Given the description of an element on the screen output the (x, y) to click on. 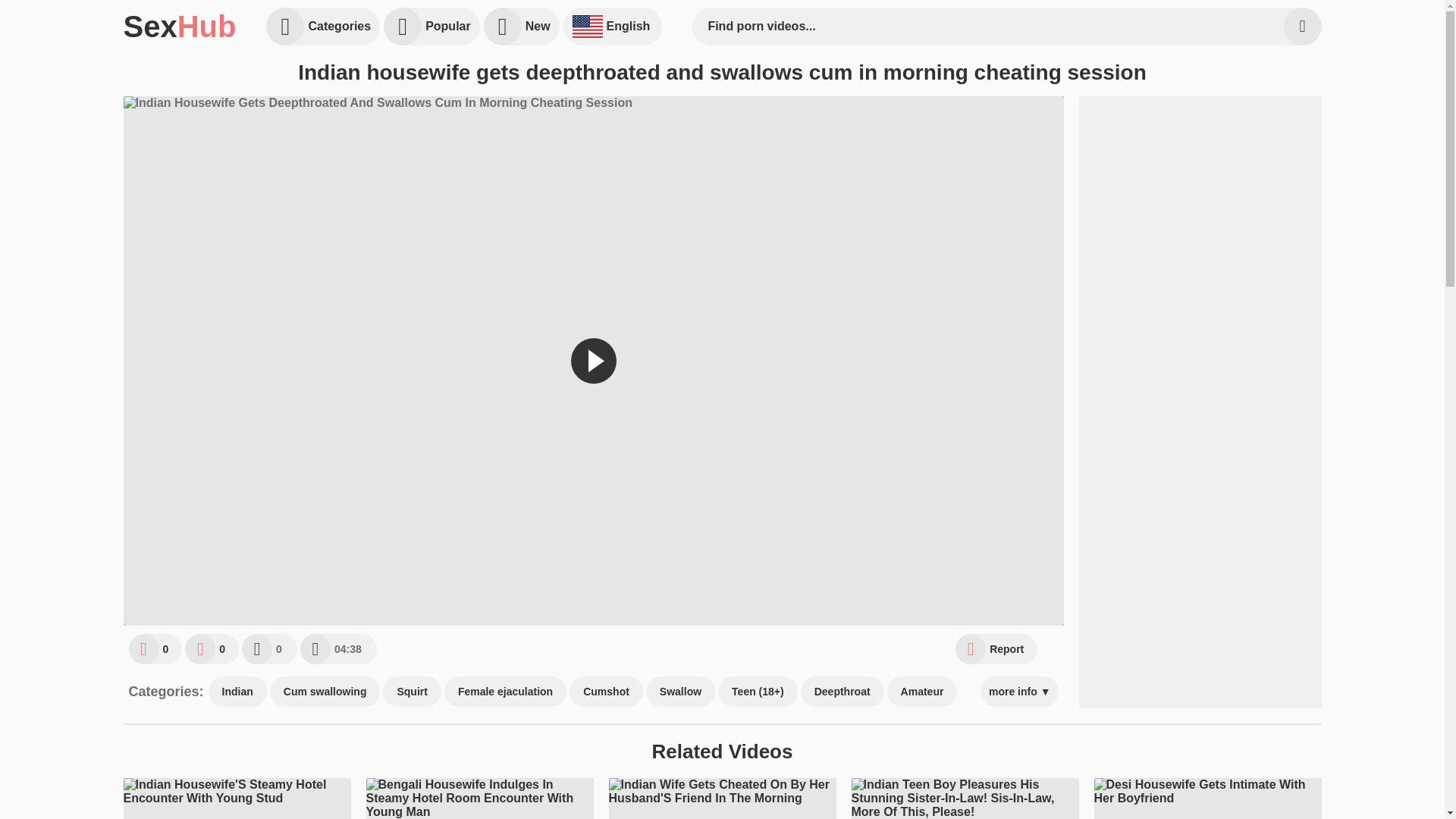
Swallow (680, 691)
New (521, 26)
Squirt (411, 691)
Deepthroat (841, 691)
Like! (156, 648)
Cumshot (606, 691)
SexHub (178, 26)
Indian (237, 691)
Cum swallowing (324, 691)
Find (1301, 26)
Popular (432, 26)
Dislike (211, 648)
Categories (323, 26)
Amateur (922, 691)
English (612, 26)
